Given the description of an element on the screen output the (x, y) to click on. 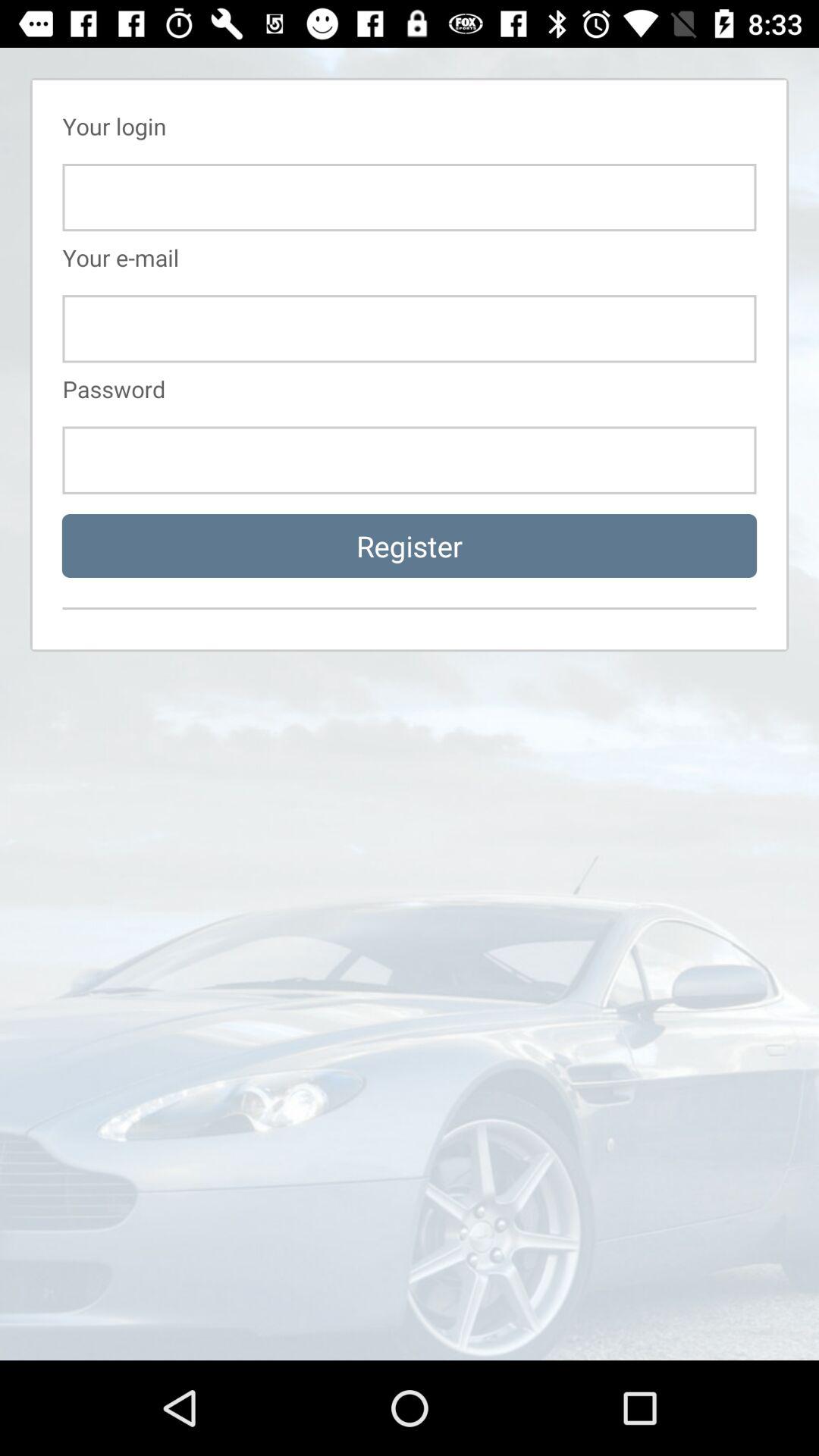
enter login information name (409, 197)
